Given the description of an element on the screen output the (x, y) to click on. 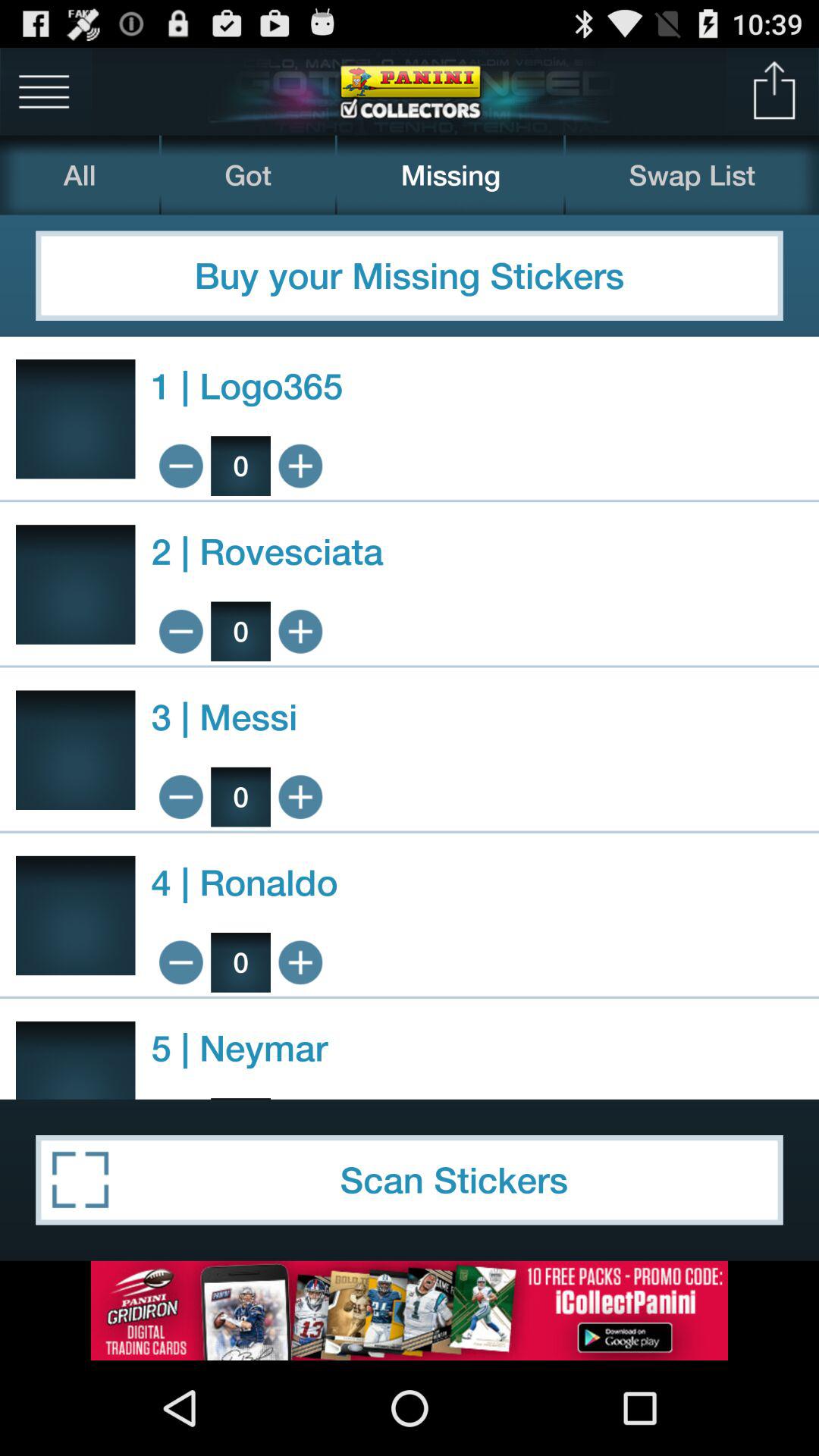
add product by 1 (300, 1098)
